Given the description of an element on the screen output the (x, y) to click on. 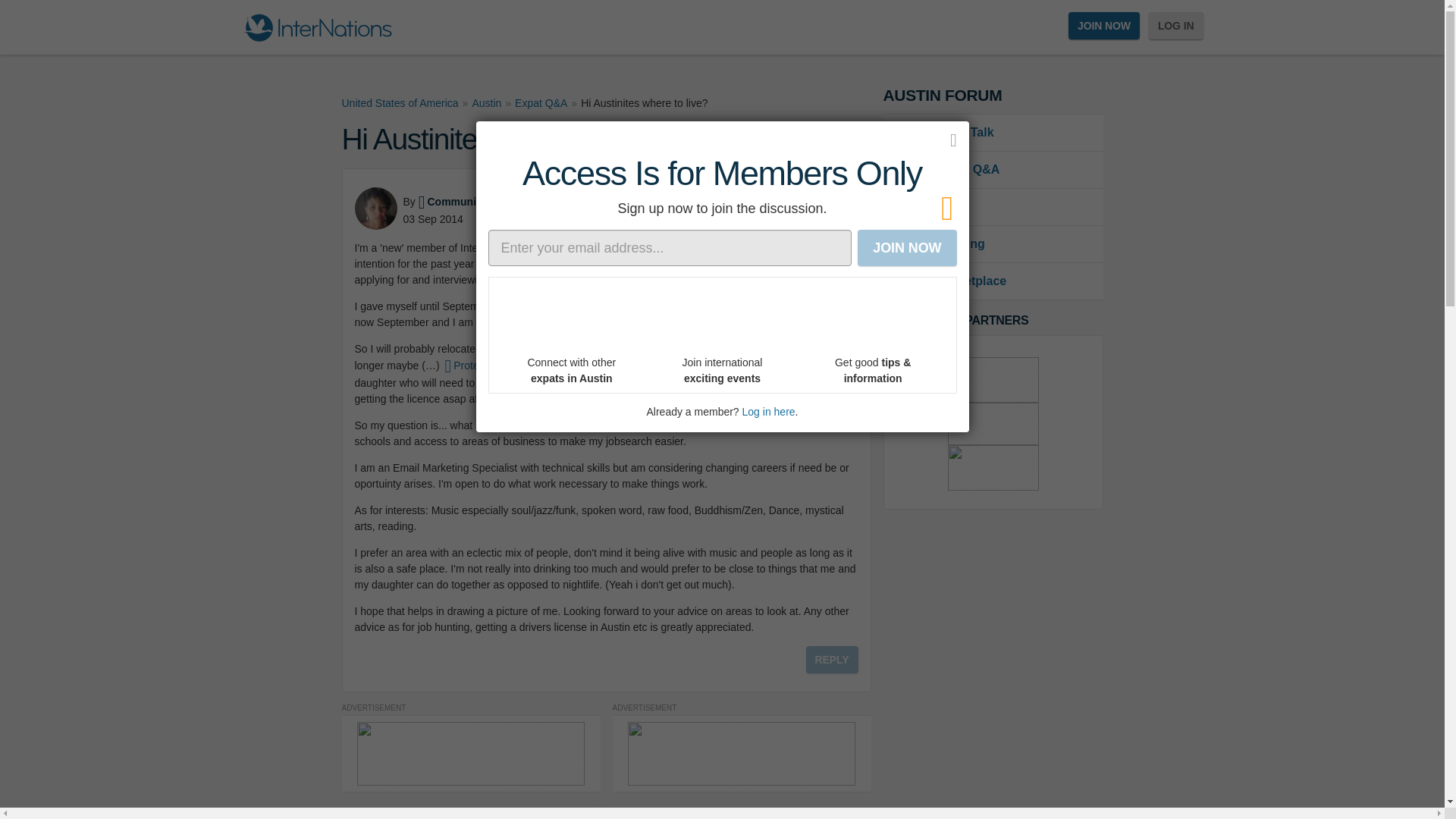
3rd party ad content (993, 467)
Click to return to InterNations homepage (316, 27)
Austin Housing (992, 244)
JOIN NOW (1104, 25)
Community Member (474, 201)
REPLY (832, 659)
3rd party ad content (993, 423)
United States of America (399, 102)
LOG IN (1176, 25)
Austin (485, 102)
